Given the description of an element on the screen output the (x, y) to click on. 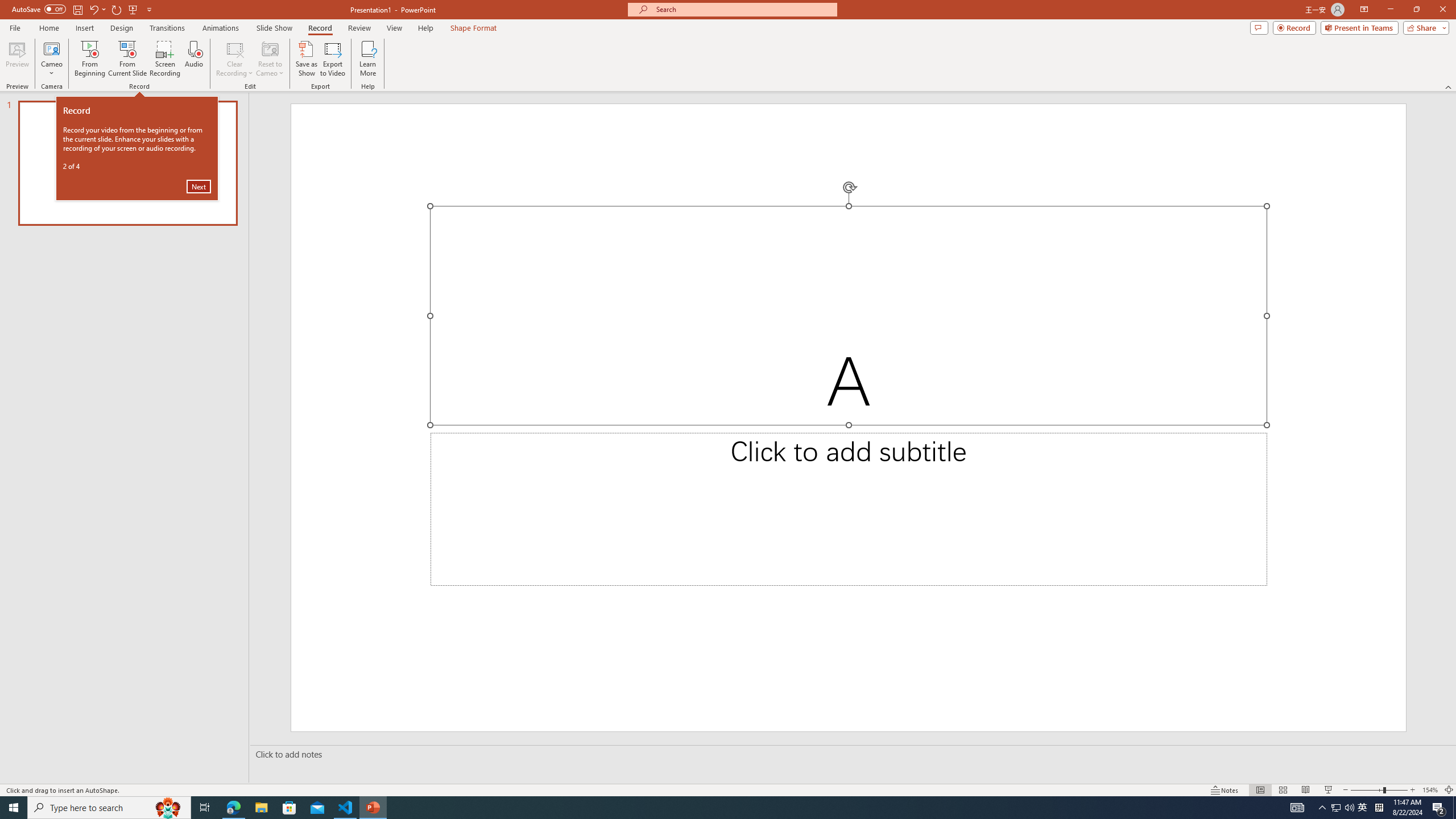
Next (198, 186)
Zoom 154% (1430, 790)
